Given the description of an element on the screen output the (x, y) to click on. 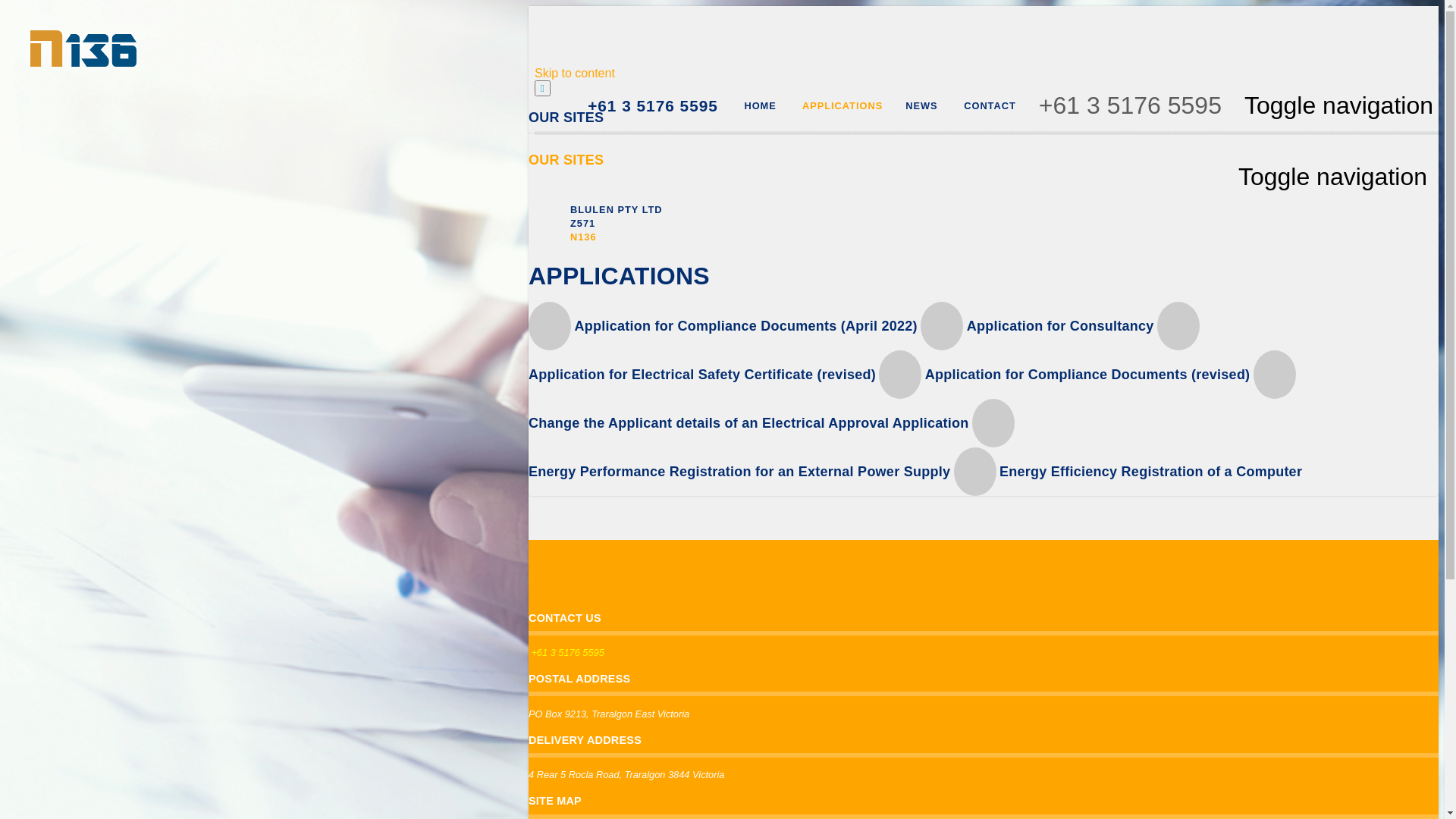
+61 3 5176 5595 Element type: text (566, 652)
Toggle navigation Element type: text (1338, 105)
Skip to content Element type: text (574, 72)
OUR SITES Element type: text (565, 159)
BLULEN PTY LTD Element type: text (616, 209)
Application for Electrical Safety Certificate (revised) Element type: text (863, 349)
 CONTACT Element type: text (988, 105)
Energy Performance Registration for an External Power Supply Element type: text (771, 446)
Toggle navigation Element type: text (1332, 176)
+61 3 5176 5595 Element type: text (652, 104)
Energy Efficiency Registration of a Computer Element type: text (1127, 470)
Application for Compliance Documents (April 2022) Element type: text (724, 325)
Application for Consultancy Element type: text (1038, 325)
Z571 Element type: text (582, 222)
Application for Compliance Documents (revised) Element type: text (1065, 373)
 HOME Element type: text (758, 105)
NEWS Element type: text (921, 105)
N136 Element type: text (583, 236)
 APPLICATIONS Element type: text (840, 105)
